Given the description of an element on the screen output the (x, y) to click on. 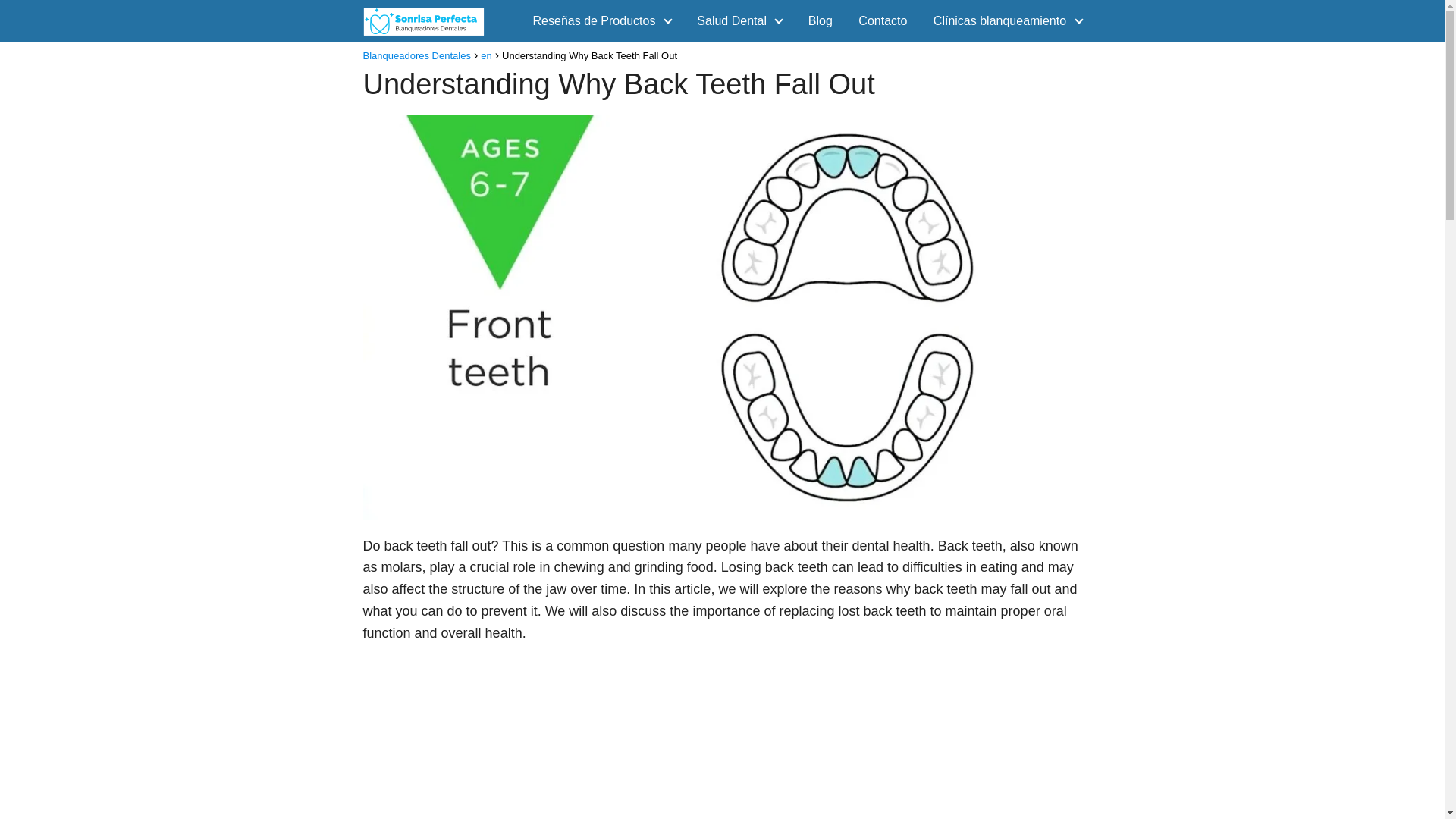
Contacto (883, 20)
Blog (820, 20)
Salud Dental (735, 20)
